Given the description of an element on the screen output the (x, y) to click on. 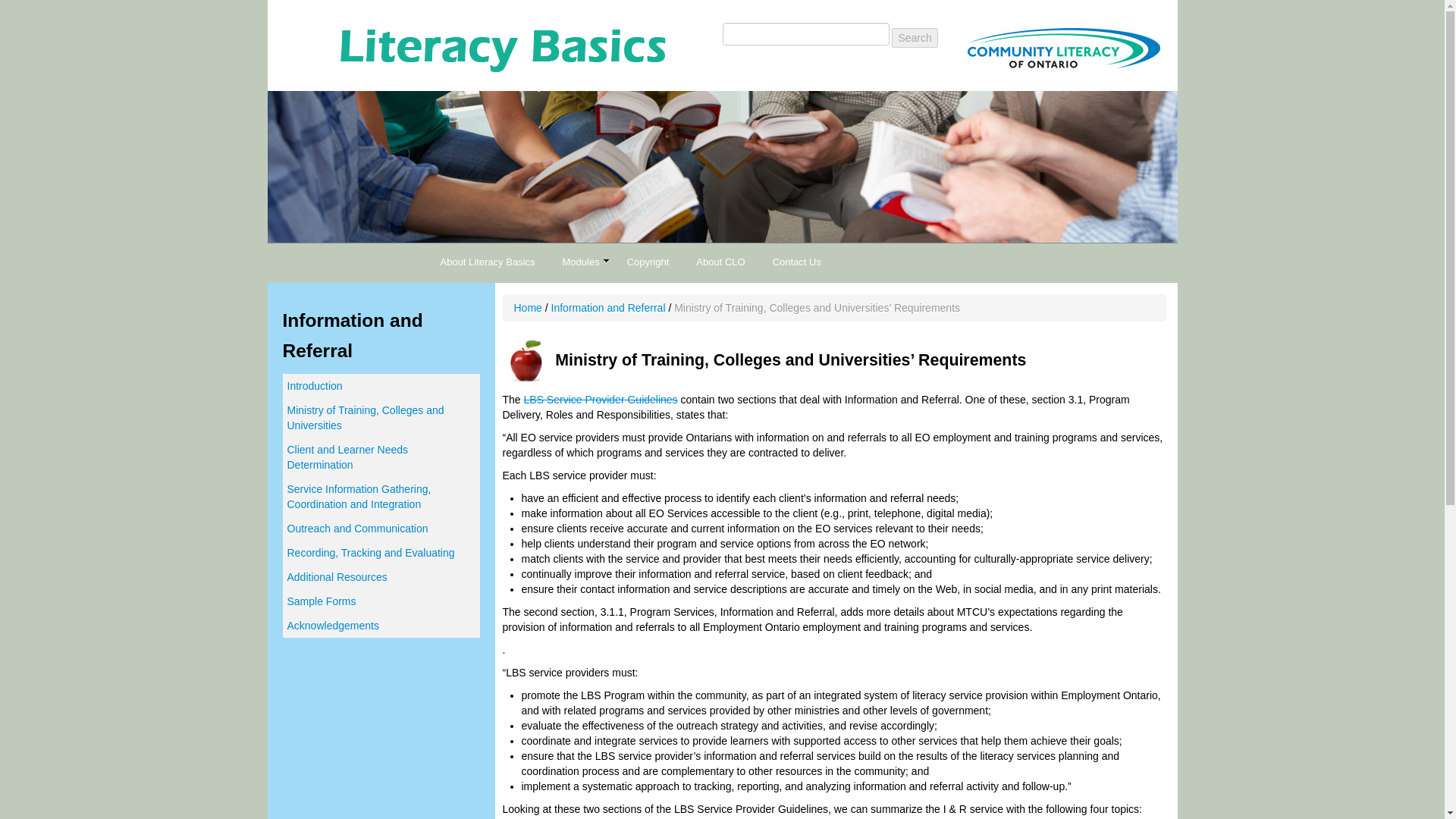
About CLO (720, 262)
Ministry of Training, Colleges and Universities (380, 417)
Introduction (380, 385)
Client and Learner Needs Determination (380, 456)
View Home (527, 307)
Copyright (647, 262)
Contact Us (796, 262)
Search (914, 37)
Service Information Gathering, Coordination and Integration (380, 496)
View Information and Referral (608, 307)
Modules (580, 262)
Search (914, 37)
About Literacy Basics (487, 262)
